Given the description of an element on the screen output the (x, y) to click on. 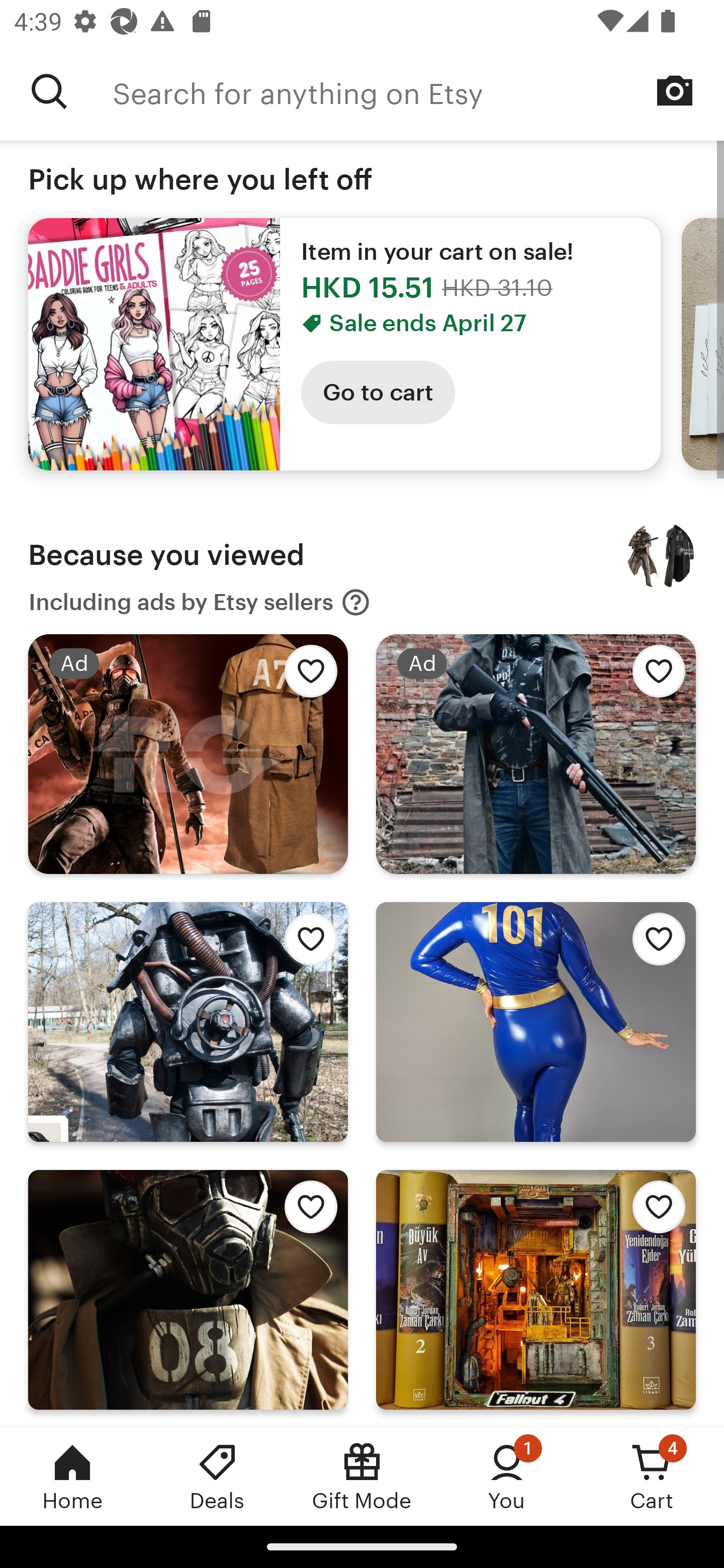
Search for anything on Etsy (49, 91)
Search by image (674, 90)
Search for anything on Etsy (418, 91)
Including ads by Etsy sellers (199, 601)
Add NCR Ranger helmet and armor set to favorites (305, 1211)
Deals (216, 1475)
Gift Mode (361, 1475)
You, 1 new notification You (506, 1475)
Cart, 4 new notifications Cart (651, 1475)
